Given the description of an element on the screen output the (x, y) to click on. 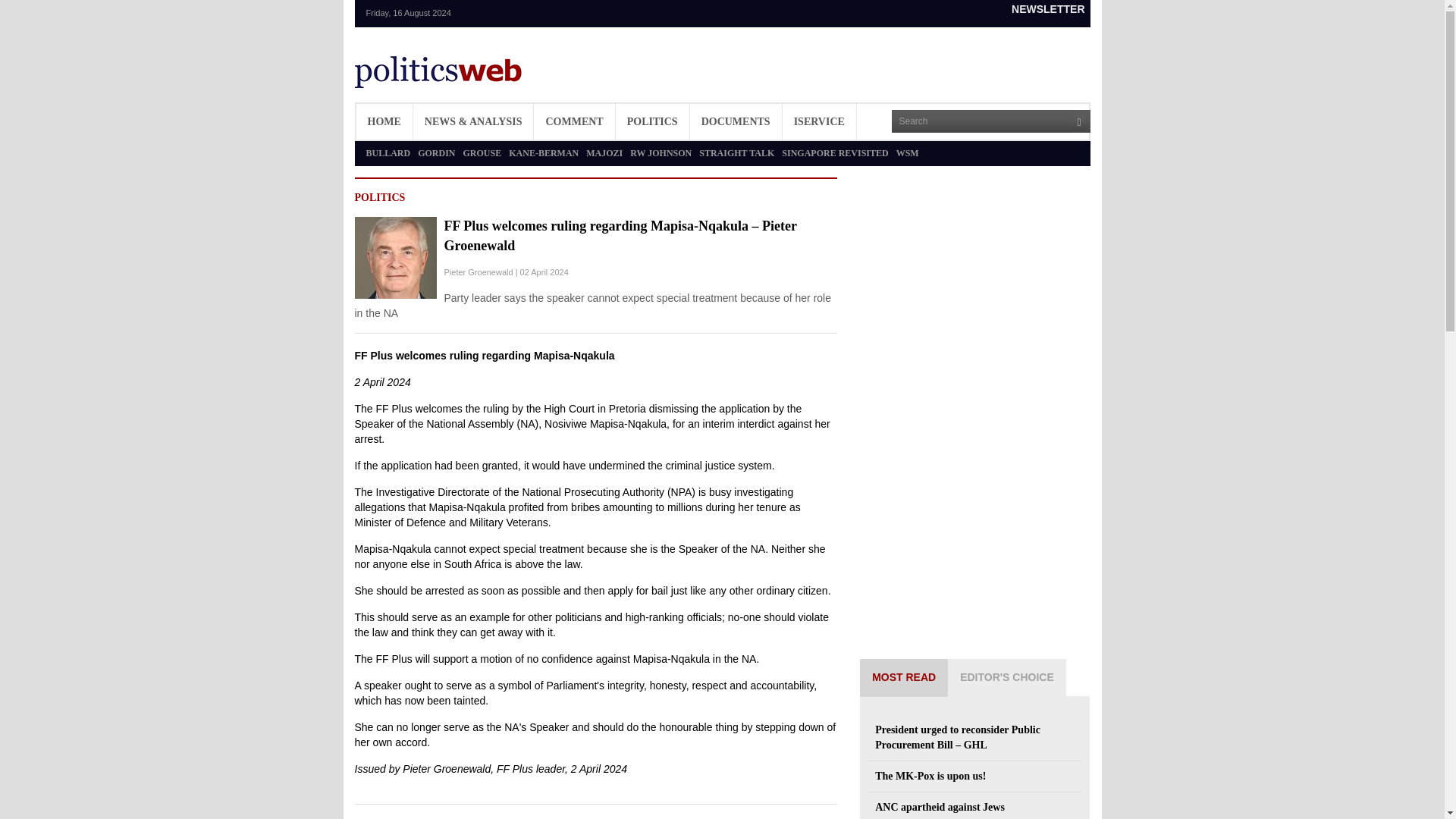
ISERVICE (819, 121)
RW JOHNSON (660, 153)
MAJOZI (604, 153)
NEWSLETTER (1047, 9)
STRAIGHT TALK (736, 153)
GROUSE (482, 153)
HOME (384, 121)
SINGAPORE REVISITED (834, 153)
KANE-BERMAN (543, 153)
WSM (907, 153)
